Given the description of an element on the screen output the (x, y) to click on. 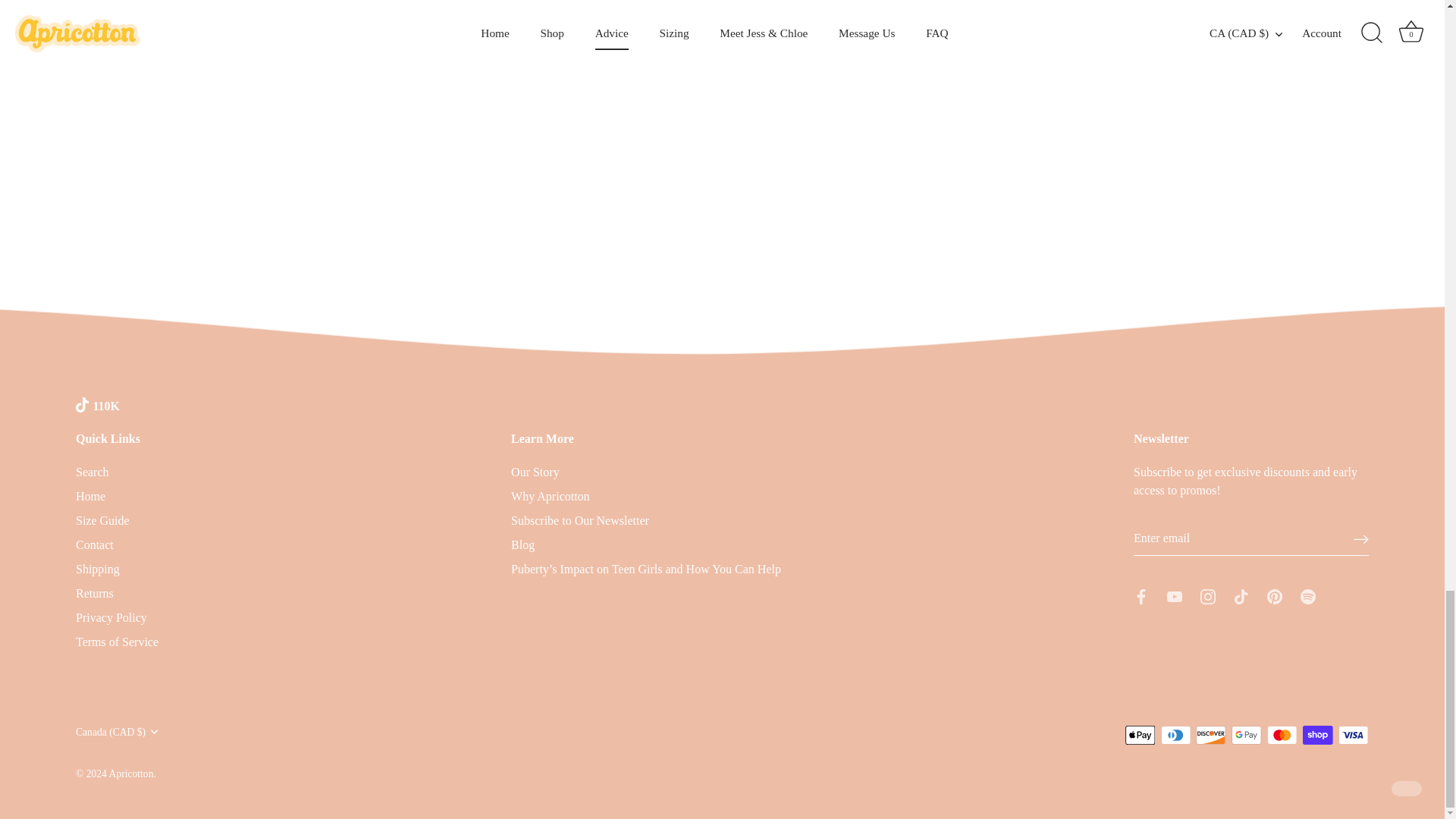
Visa (1353, 734)
Youtube (1174, 595)
Right arrow long (1361, 539)
Google Pay (1245, 734)
Apple Pay (1140, 734)
Pinterest (1274, 595)
Instagram (1207, 595)
Diners Club (1174, 734)
Shop Pay (1317, 734)
Discover (1210, 734)
Mastercard (1281, 734)
